Given the description of an element on the screen output the (x, y) to click on. 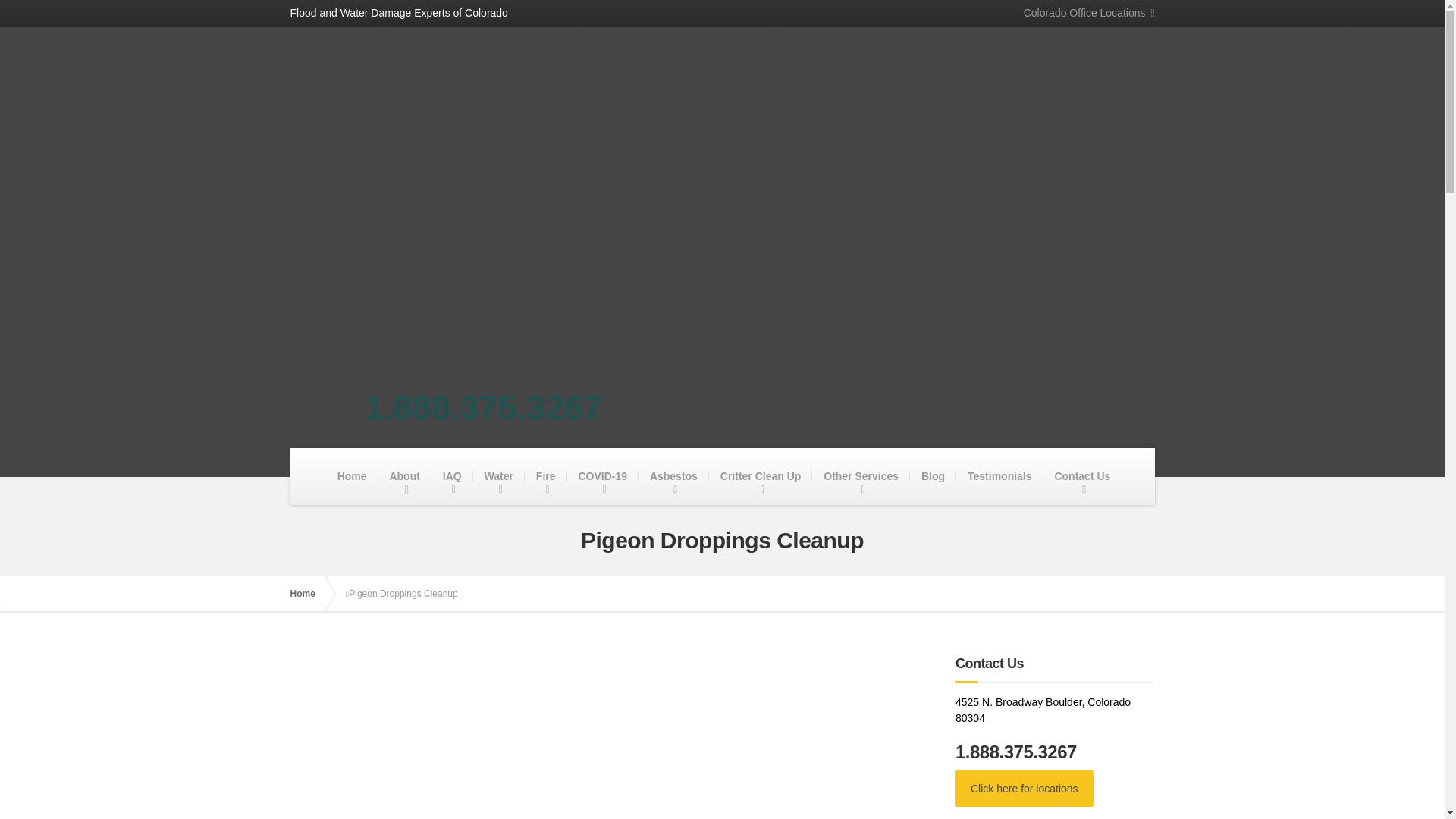
10 years of excellence based on this award (381, 215)
IICRC Certified (801, 215)
Water (498, 475)
Home (352, 475)
Colorado Office Locations (1082, 13)
About (403, 475)
Pigeon Droppings Cleanup (611, 737)
1.888.375.3267 (483, 407)
